Given the description of an element on the screen output the (x, y) to click on. 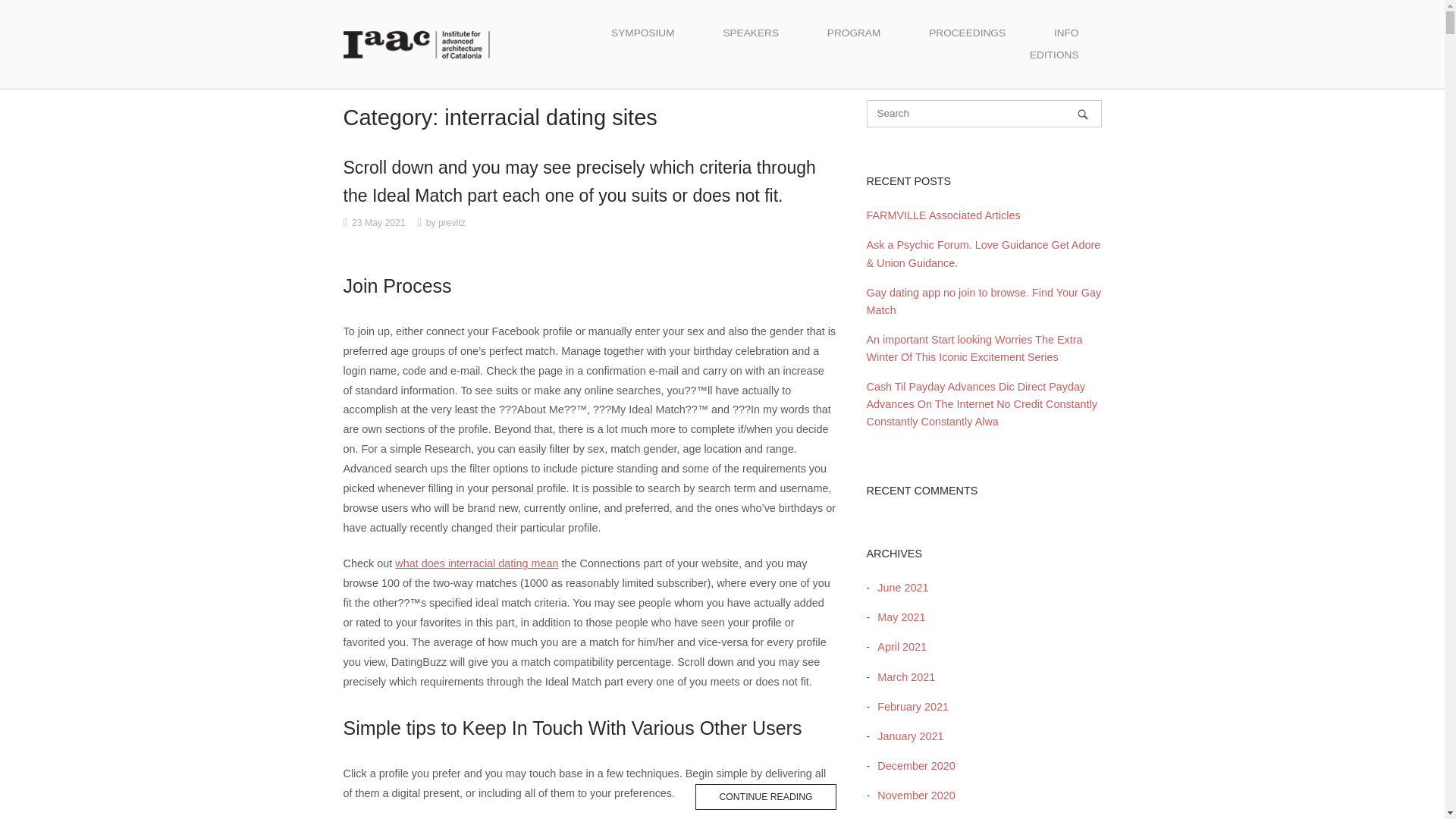
SPEAKERS (751, 33)
previtz (451, 222)
what does interracial dating mean (475, 563)
INFO (1066, 33)
FARMVILLE Associated Articles (943, 215)
April 2021 (897, 646)
Gay dating app no join to browse. Find Your Gay Match (983, 301)
Home (415, 43)
EDITIONS (1054, 54)
